Given the description of an element on the screen output the (x, y) to click on. 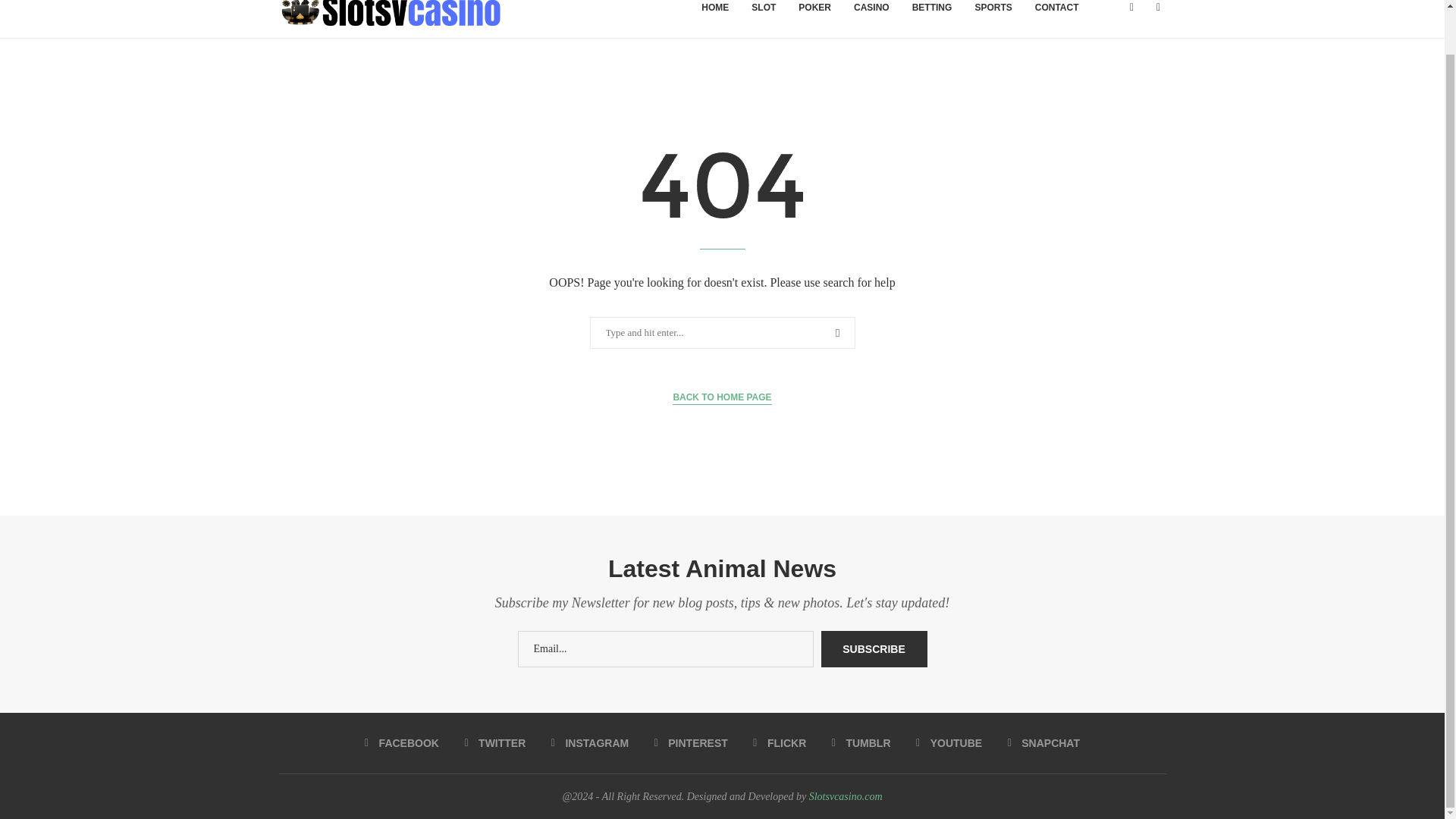
CONTACT (1056, 19)
SLOT (763, 19)
BACK TO HOME PAGE (721, 397)
POKER (815, 19)
TWITTER (494, 743)
SPORTS (992, 19)
CASINO (872, 19)
HOME (714, 19)
INSTAGRAM (589, 743)
BETTING (932, 19)
PINTEREST (690, 743)
FLICKR (779, 743)
FACEBOOK (402, 743)
Subscribe (873, 648)
Subscribe (873, 648)
